Given the description of an element on the screen output the (x, y) to click on. 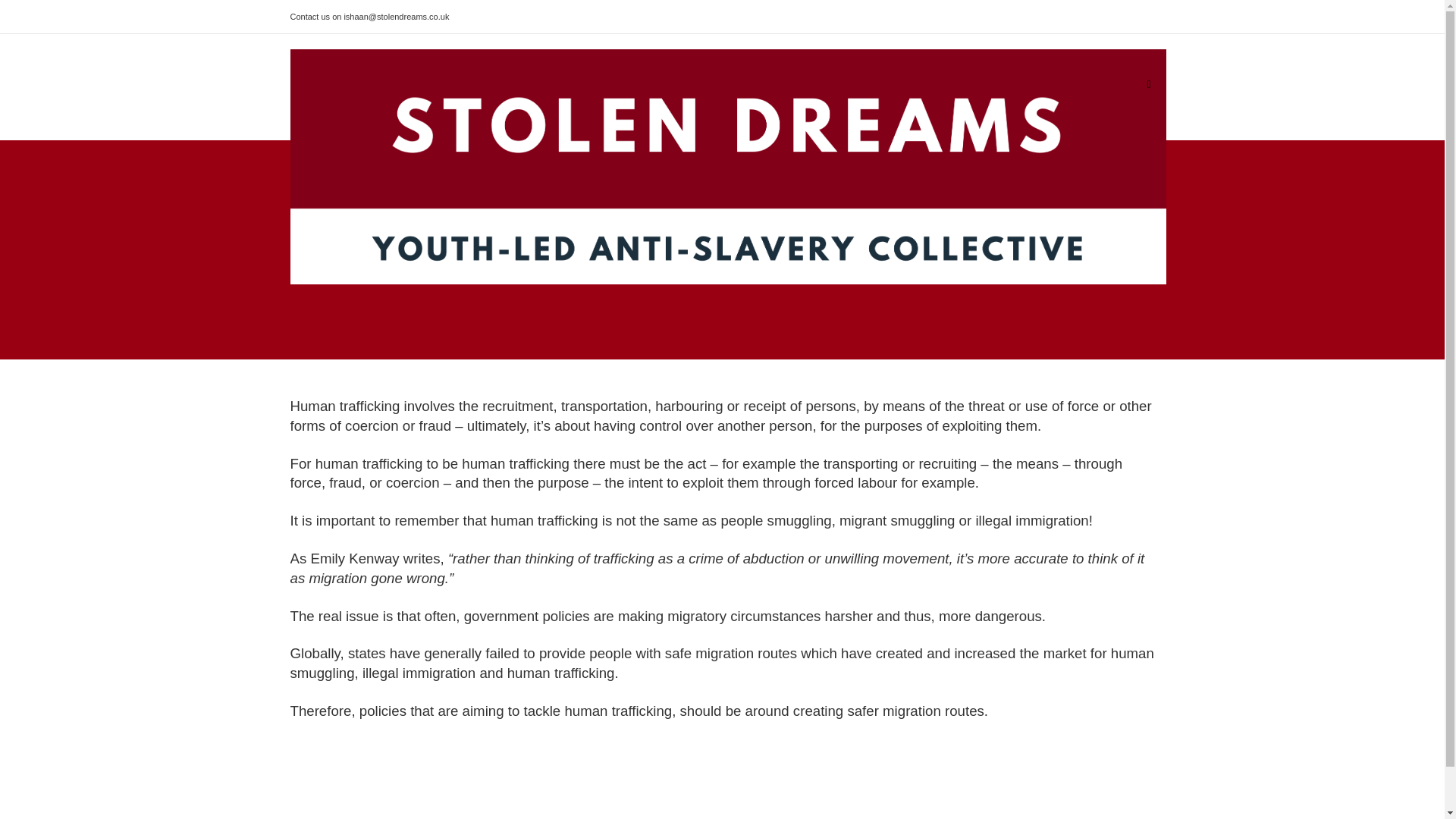
What is Modern Slavery? (809, 83)
